Given the description of an element on the screen output the (x, y) to click on. 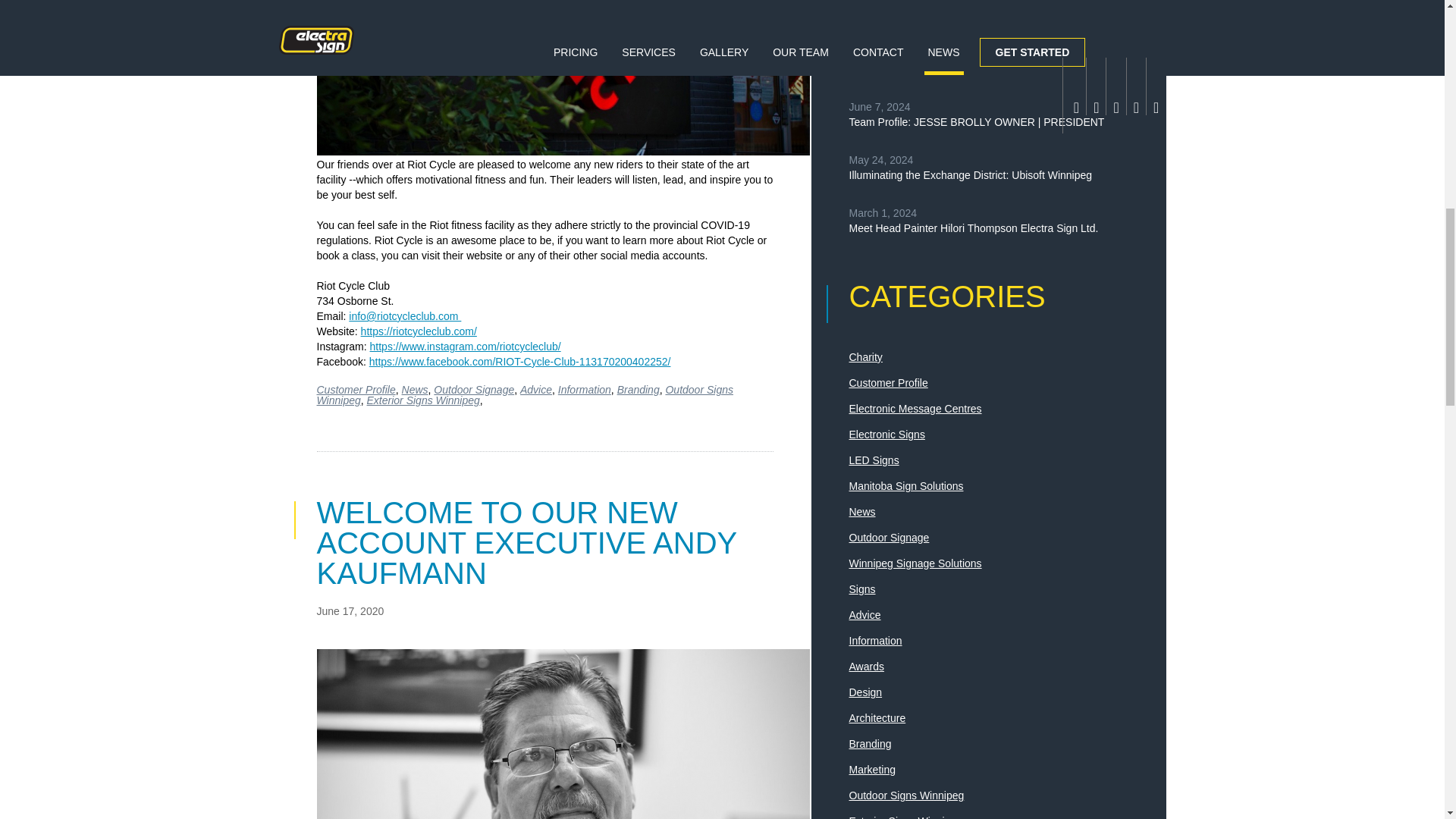
Branding (638, 389)
Customer Profile (356, 389)
Outdoor Signs Winnipeg (525, 395)
Exterior Signs Winnipeg (423, 399)
News (414, 389)
Outdoor Signage (473, 389)
Information (584, 389)
Advice (535, 389)
